Given the description of an element on the screen output the (x, y) to click on. 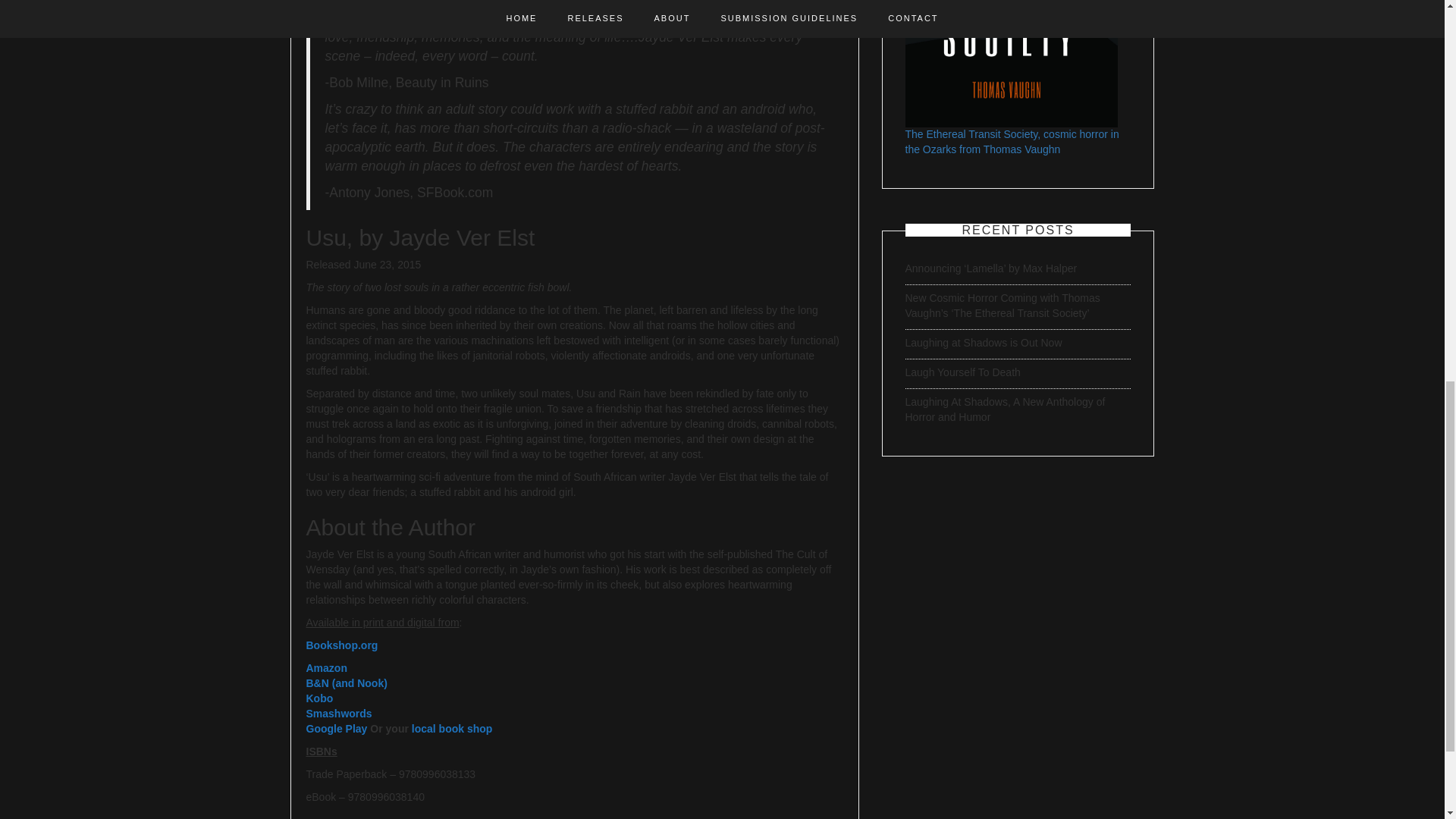
Kobo (319, 698)
Smashwords (338, 713)
Amazon (326, 667)
Laugh Yourself To Death (962, 372)
Laughing at Shadows is Out Now (983, 342)
Bookshop.org (341, 645)
Google Play (338, 728)
local book shop (452, 728)
Laughing At Shadows, A New Anthology of Horror and Humor (1005, 409)
